Given the description of an element on the screen output the (x, y) to click on. 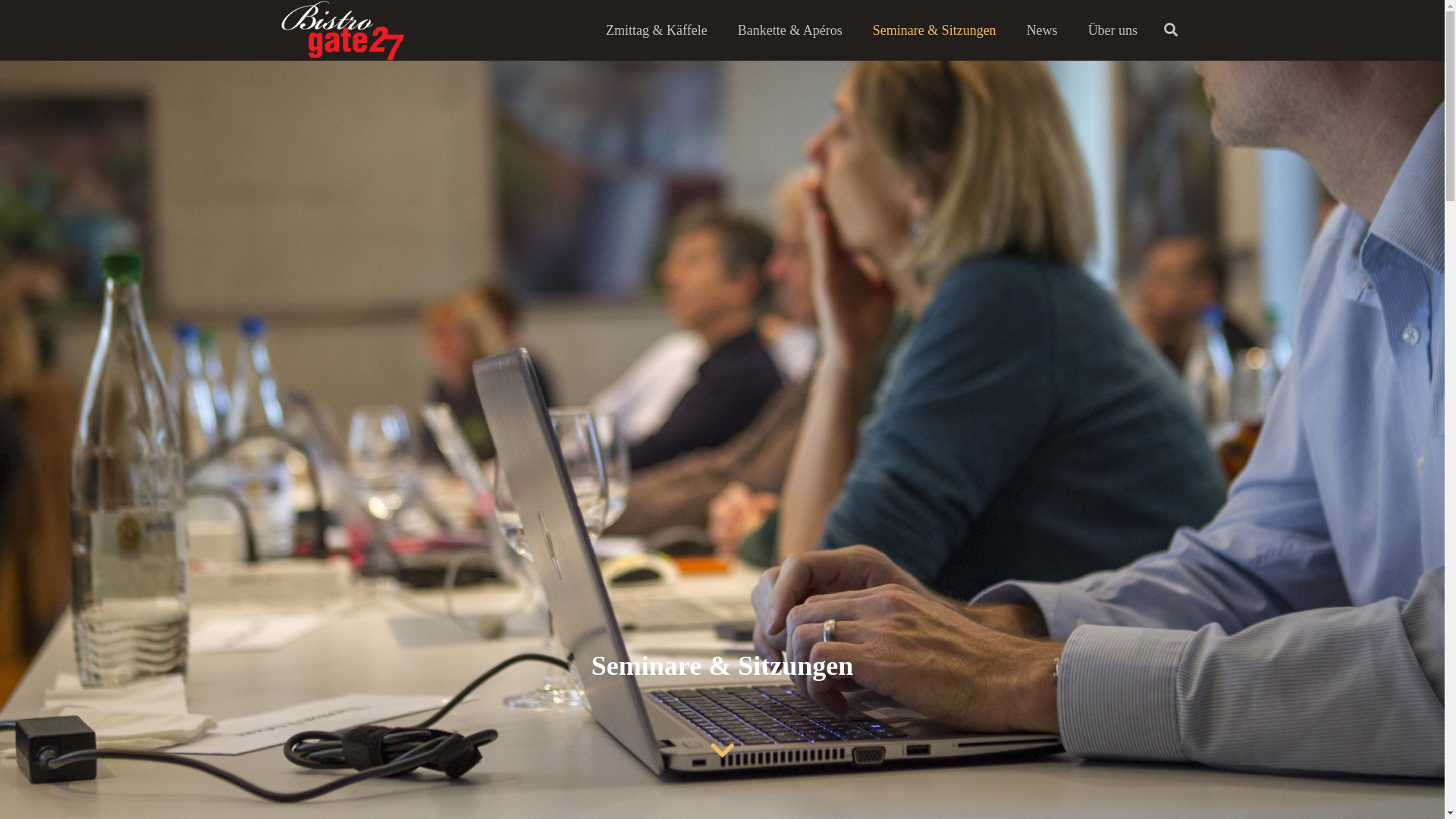
News Element type: text (1042, 30)
Seminare & Sitzungen Element type: text (934, 30)
Suchen Element type: hover (1170, 30)
